Given the description of an element on the screen output the (x, y) to click on. 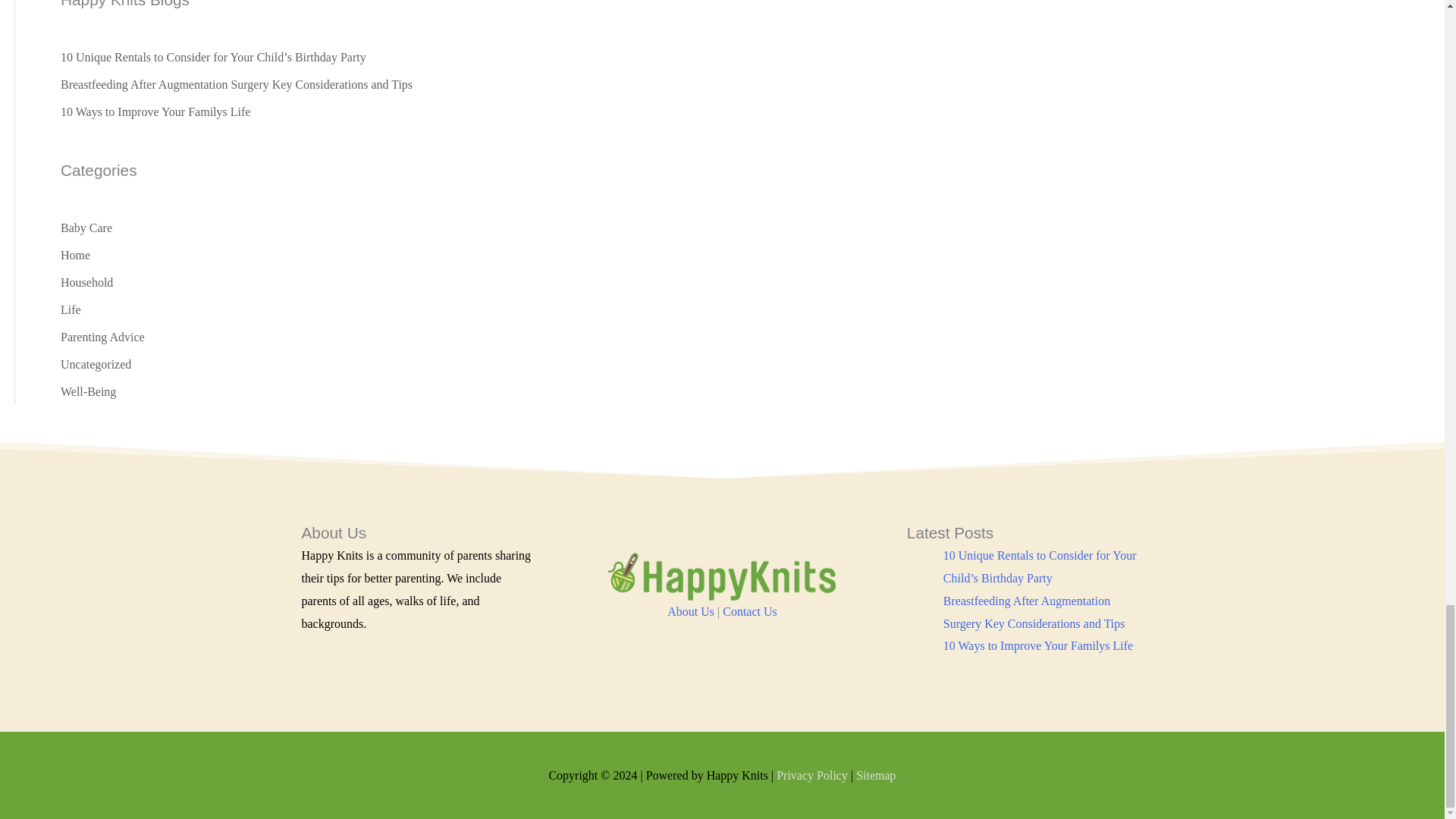
Baby Care (86, 227)
10 Ways to Improve Your Familys Life (155, 111)
About Us (690, 611)
Home (75, 254)
Parenting Advice (102, 336)
Well-Being (88, 391)
Uncategorized (96, 364)
Life (71, 309)
10 Ways to Improve Your Familys Life (1037, 645)
